Given the description of an element on the screen output the (x, y) to click on. 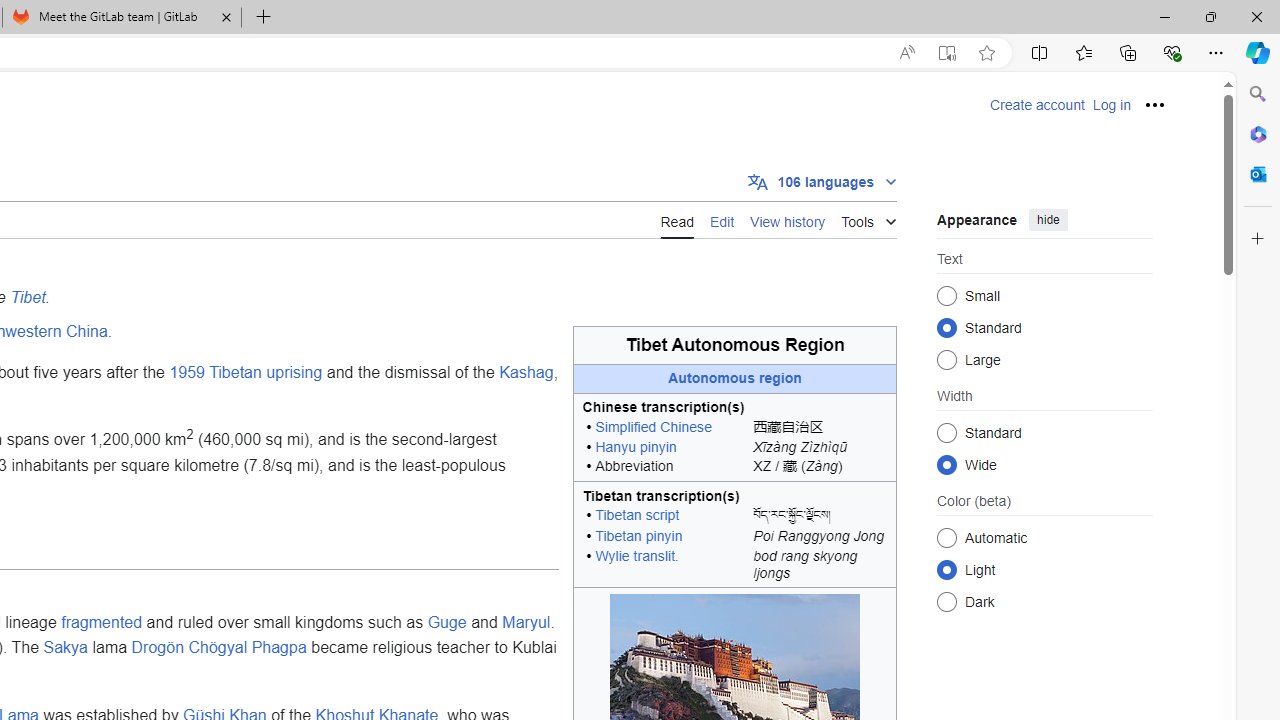
Class: mergedrow (735, 537)
Hanyu pinyin (636, 446)
bod rang skyong ljongs (820, 567)
Small (946, 295)
Wide (946, 464)
Poi Ranggyong Jong (820, 537)
Large (946, 359)
Tibetan script (637, 515)
